Given the description of an element on the screen output the (x, y) to click on. 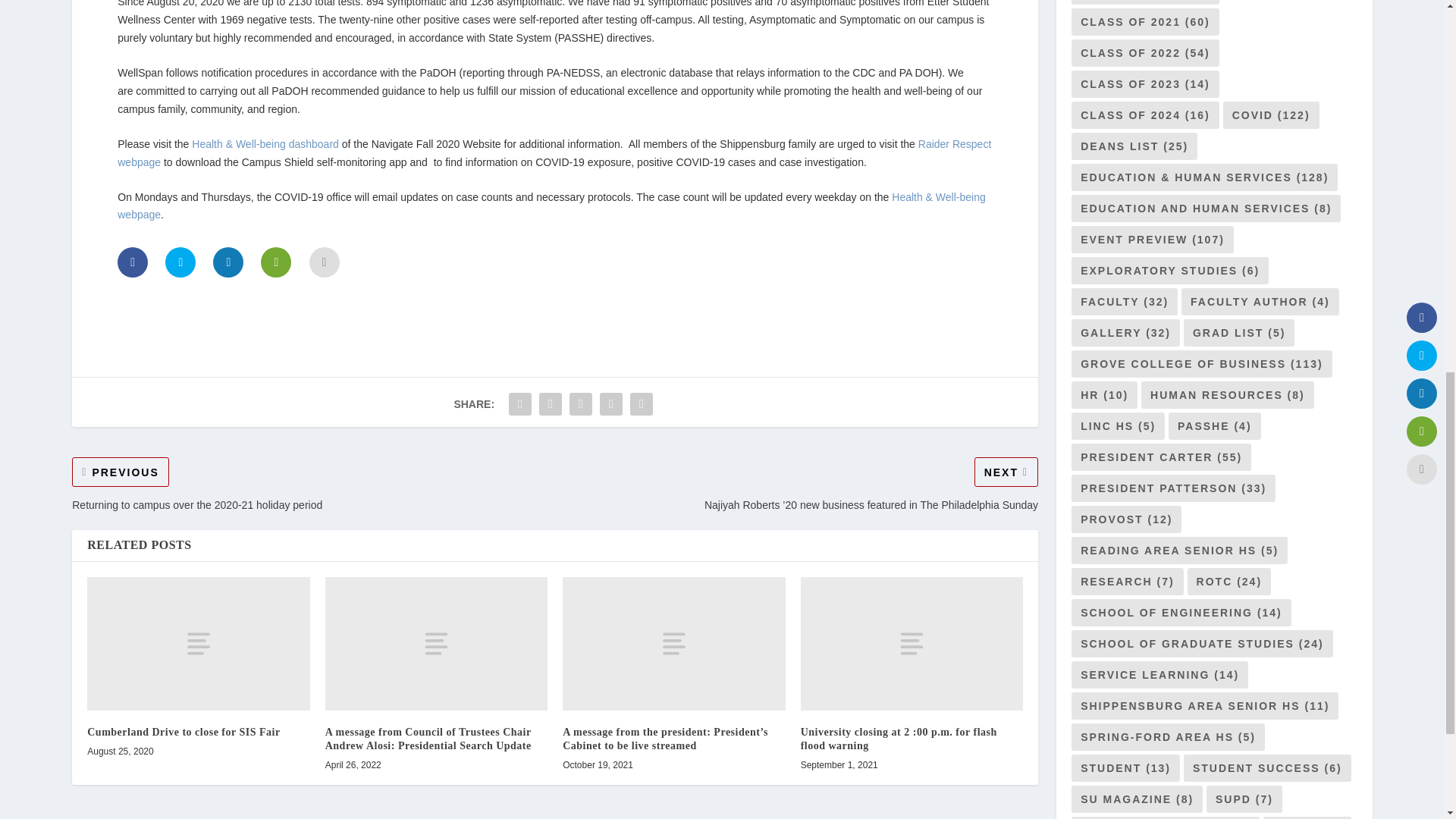
University closing at 2 :00 p.m. for flash flood warning (911, 643)
Cumberland Drive to close for SIS Fair (197, 643)
